Given the description of an element on the screen output the (x, y) to click on. 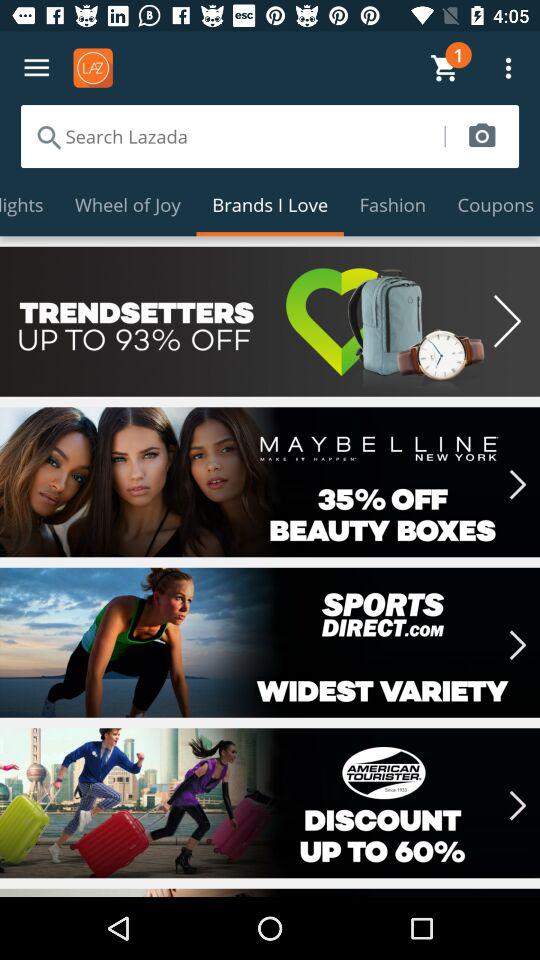
advertisement (270, 321)
